Given the description of an element on the screen output the (x, y) to click on. 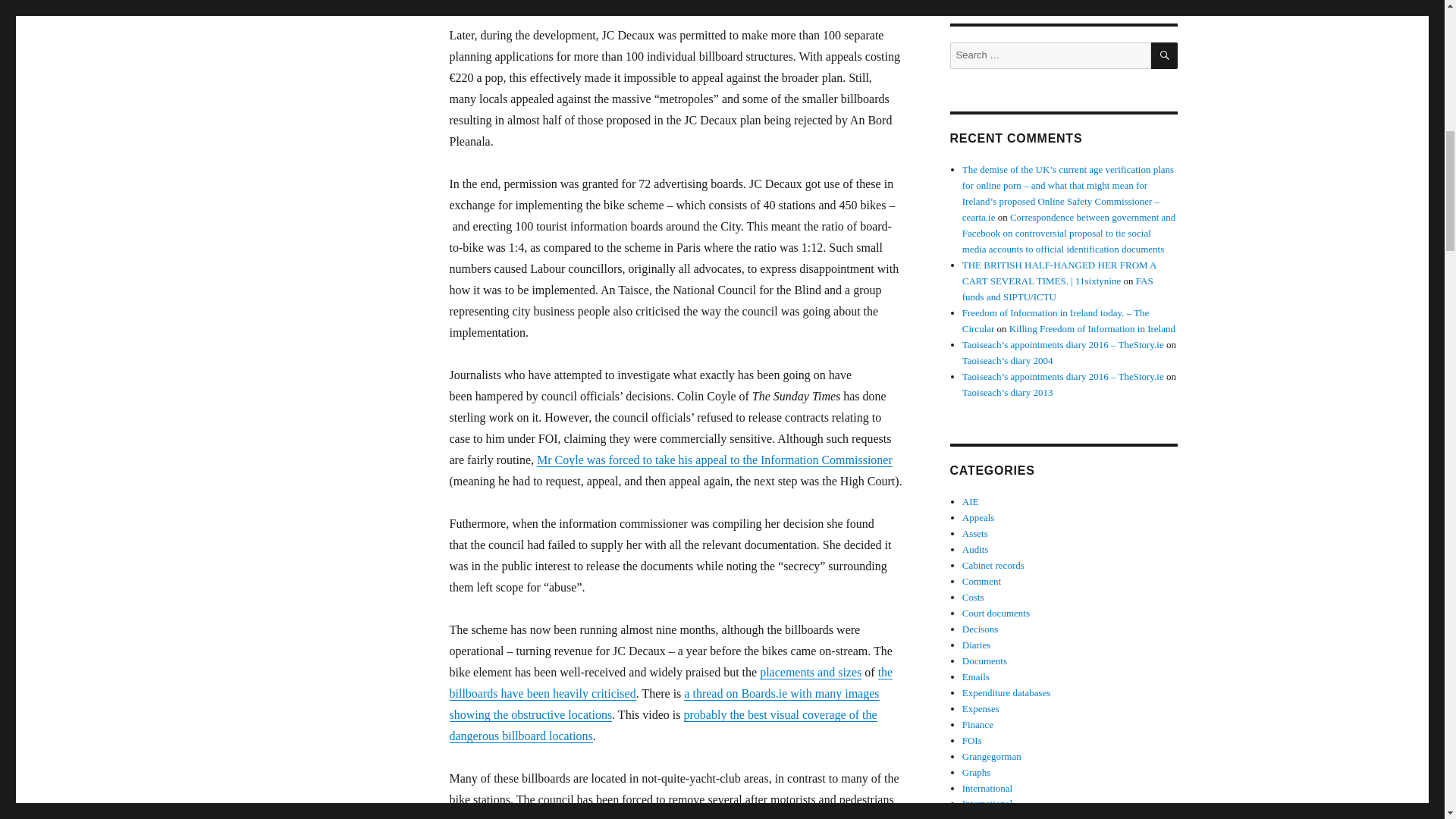
the billboards have been heavily criticised (670, 682)
SEARCH (1164, 55)
placements and sizes (810, 671)
